Given the description of an element on the screen output the (x, y) to click on. 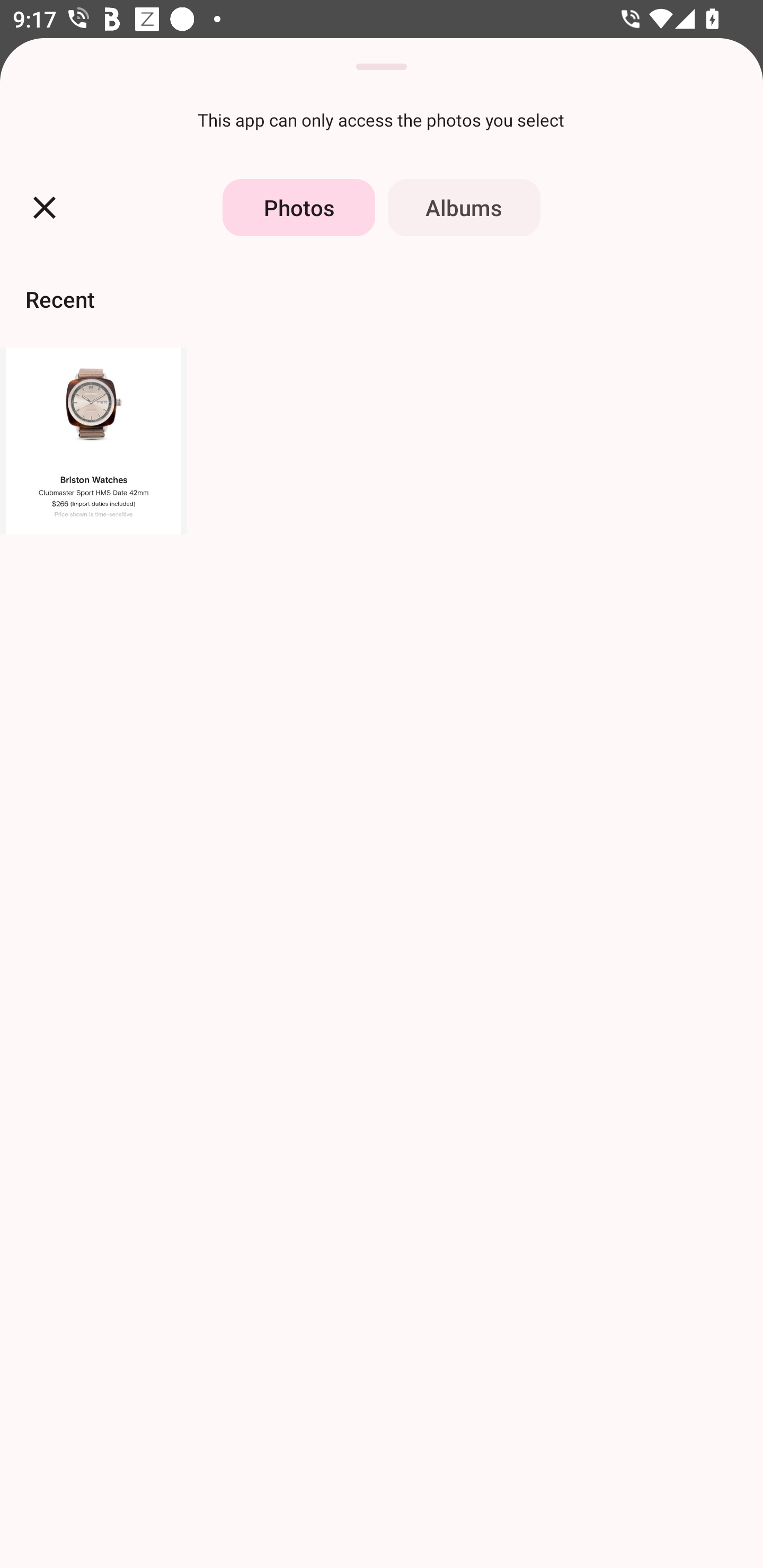
Cancel (44, 207)
Albums (464, 207)
Photo taken on Mar 5, 2024, 8:09:06 AM (93, 441)
